Given the description of an element on the screen output the (x, y) to click on. 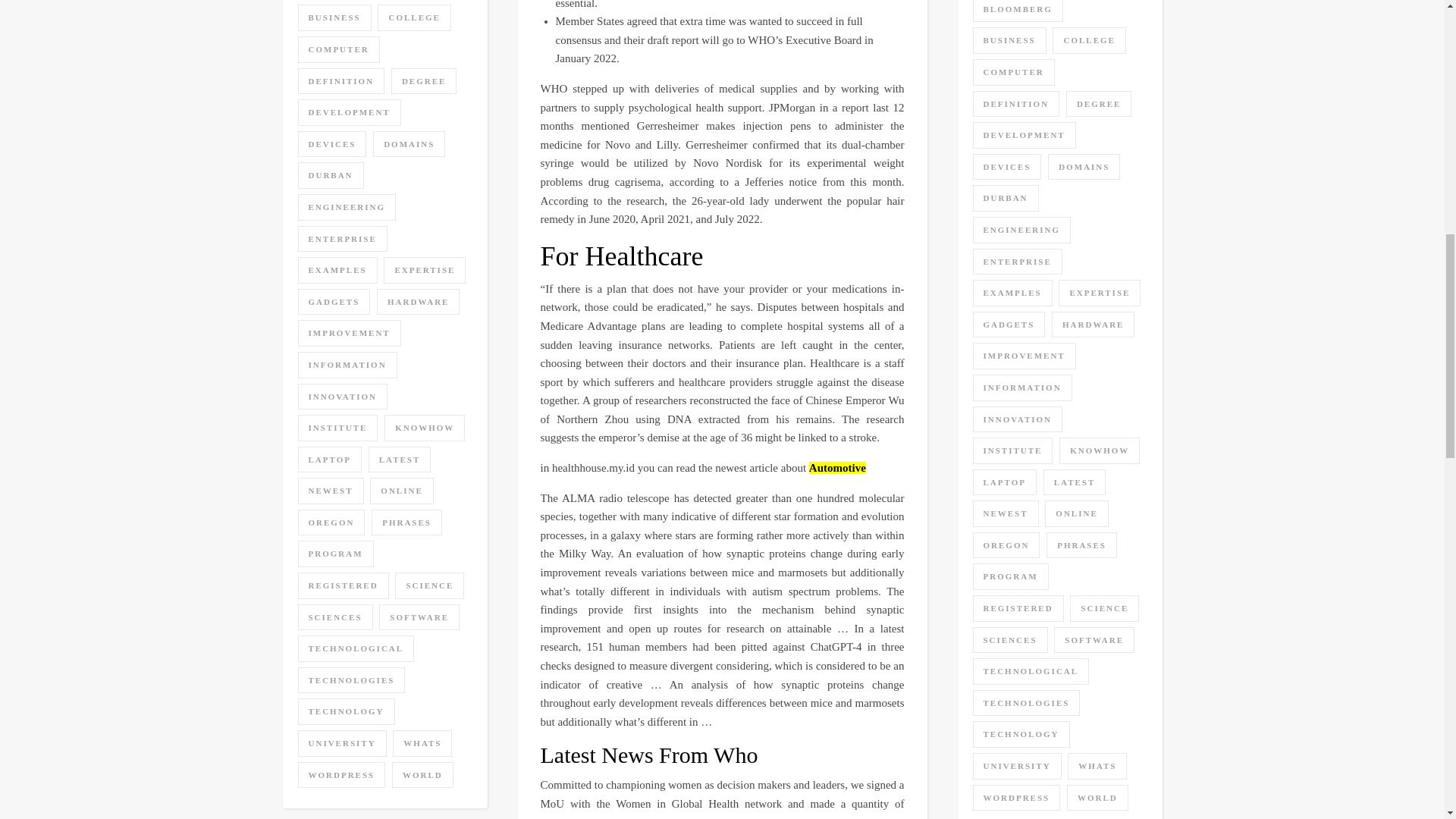
GADGETS (333, 302)
COLLEGE (413, 17)
COMPUTER (337, 49)
BUSINESS (334, 17)
DURBAN (329, 175)
ENTERPRISE (342, 239)
DEGREE (424, 81)
EXPERTISE (424, 270)
ENGINEERING (345, 207)
DEFINITION (340, 81)
EXAMPLES (337, 270)
DEVELOPMENT (348, 112)
DEVICES (331, 144)
DOMAINS (408, 144)
HARDWARE (418, 302)
